Given the description of an element on the screen output the (x, y) to click on. 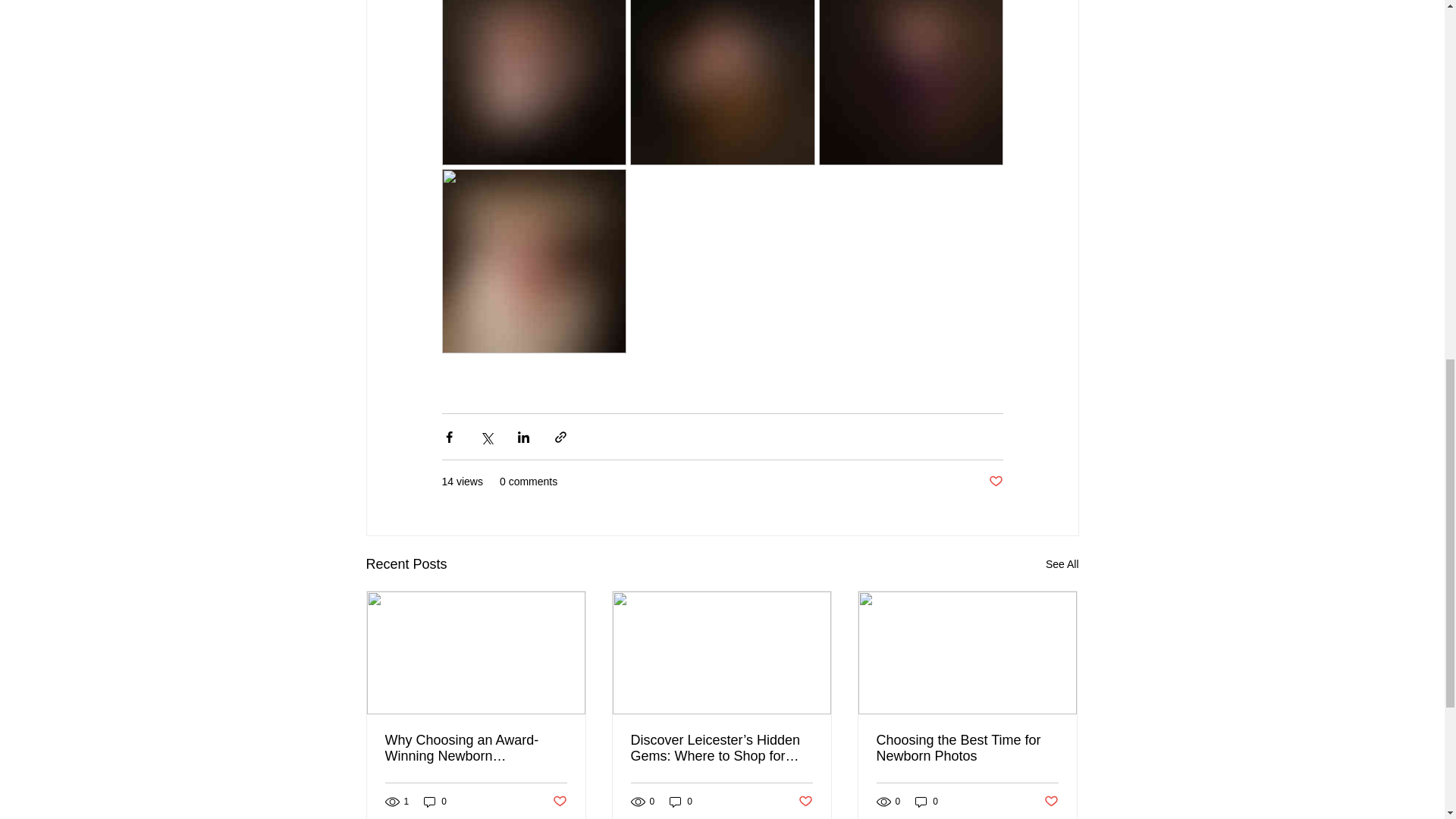
0 (926, 801)
See All (1061, 564)
0 (435, 801)
Post not marked as liked (558, 801)
0 (681, 801)
Post not marked as liked (1050, 801)
Choosing the Best Time for Newborn Photos (967, 748)
Post not marked as liked (804, 801)
Post not marked as liked (995, 481)
